Given the description of an element on the screen output the (x, y) to click on. 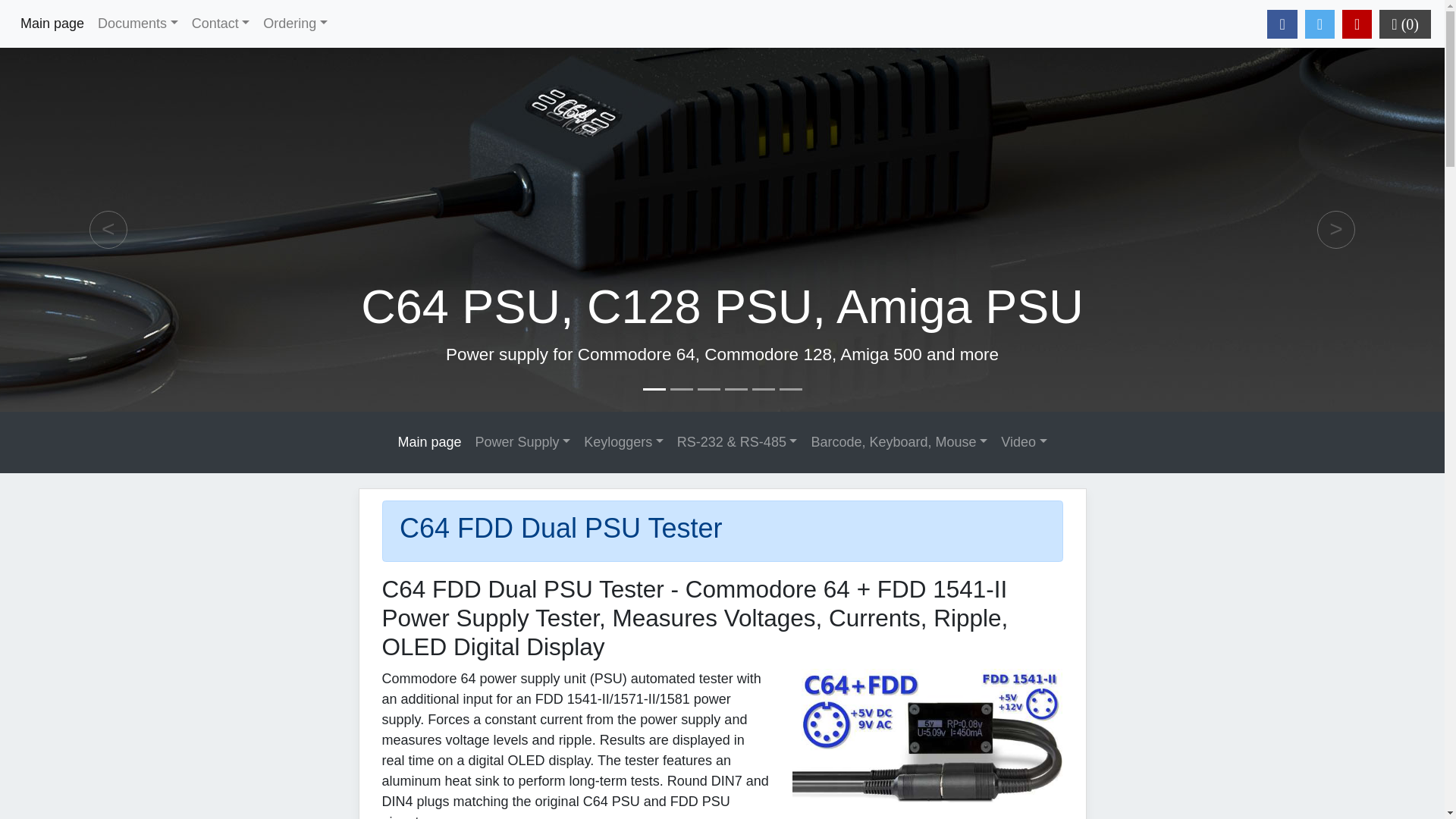
Documents (137, 23)
Contact (220, 23)
Power Supply (523, 442)
Main page (51, 23)
Ordering (295, 23)
Main page (428, 442)
